Given the description of an element on the screen output the (x, y) to click on. 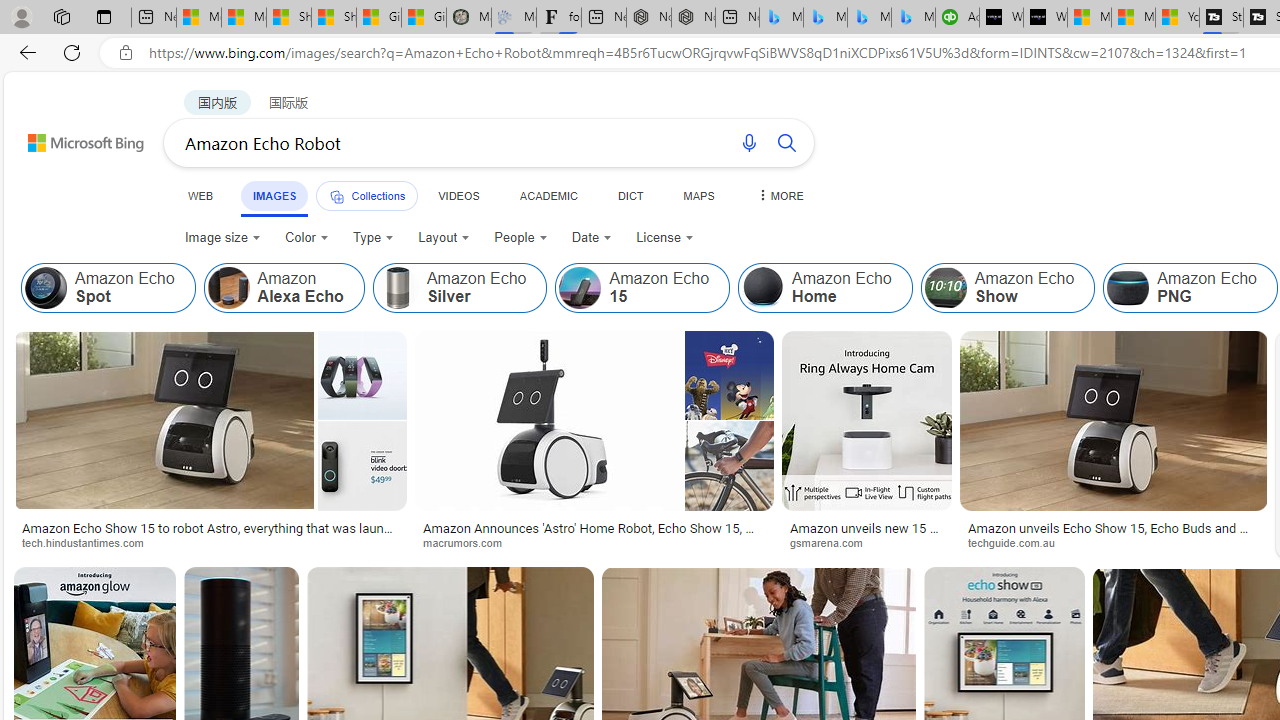
Amazon Echo PNG (1128, 287)
techguide.com.au (1113, 542)
Date (591, 237)
VIDEOS (458, 195)
Gilma and Hector both pose tropical trouble for Hawaii (423, 17)
MAPS (698, 195)
